Given the description of an element on the screen output the (x, y) to click on. 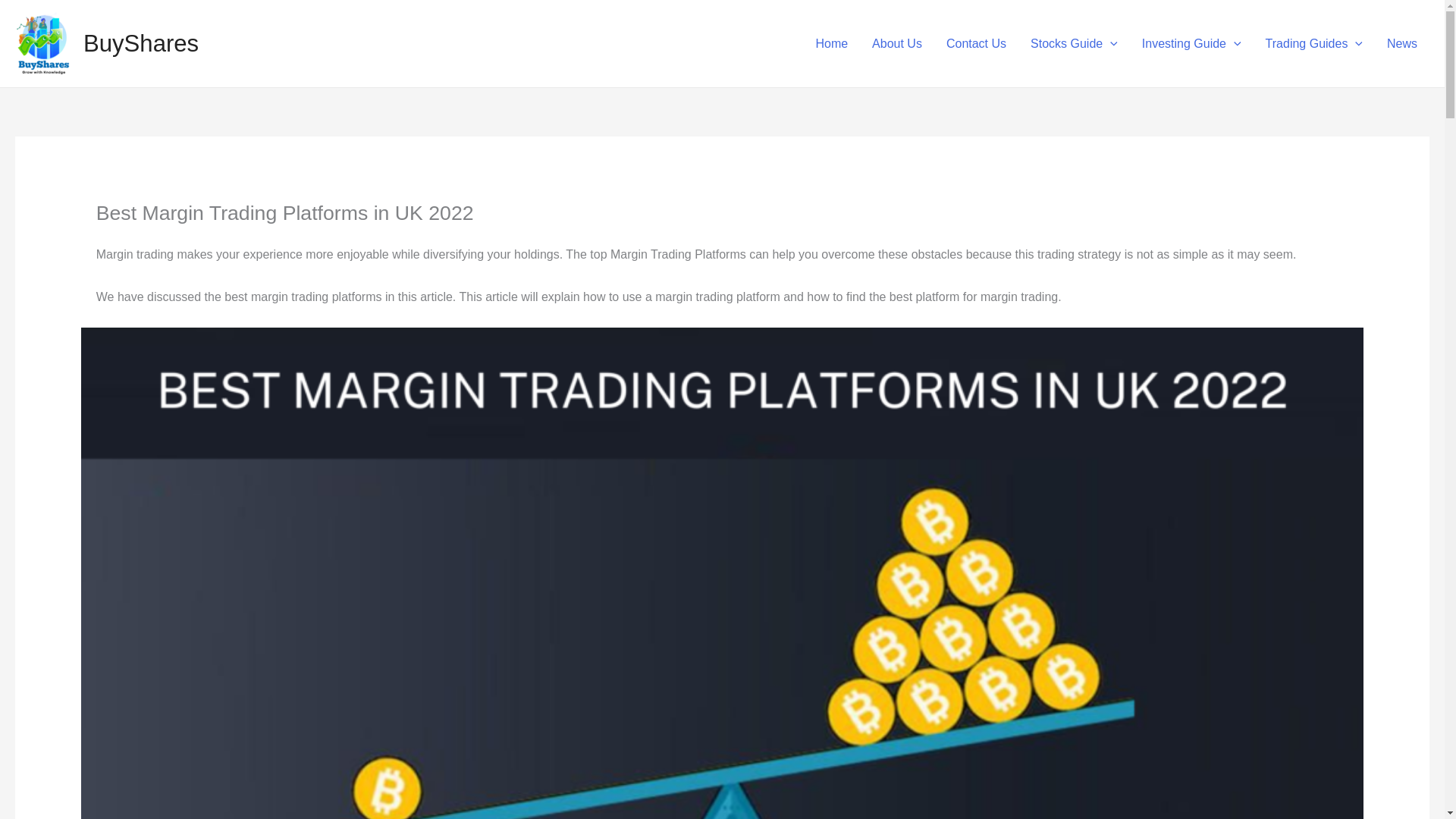
Stocks Guide (1073, 42)
BuyShares (140, 43)
About Us (897, 42)
Contact Us (975, 42)
Home (831, 42)
Investing Guide (1191, 42)
